Given the description of an element on the screen output the (x, y) to click on. 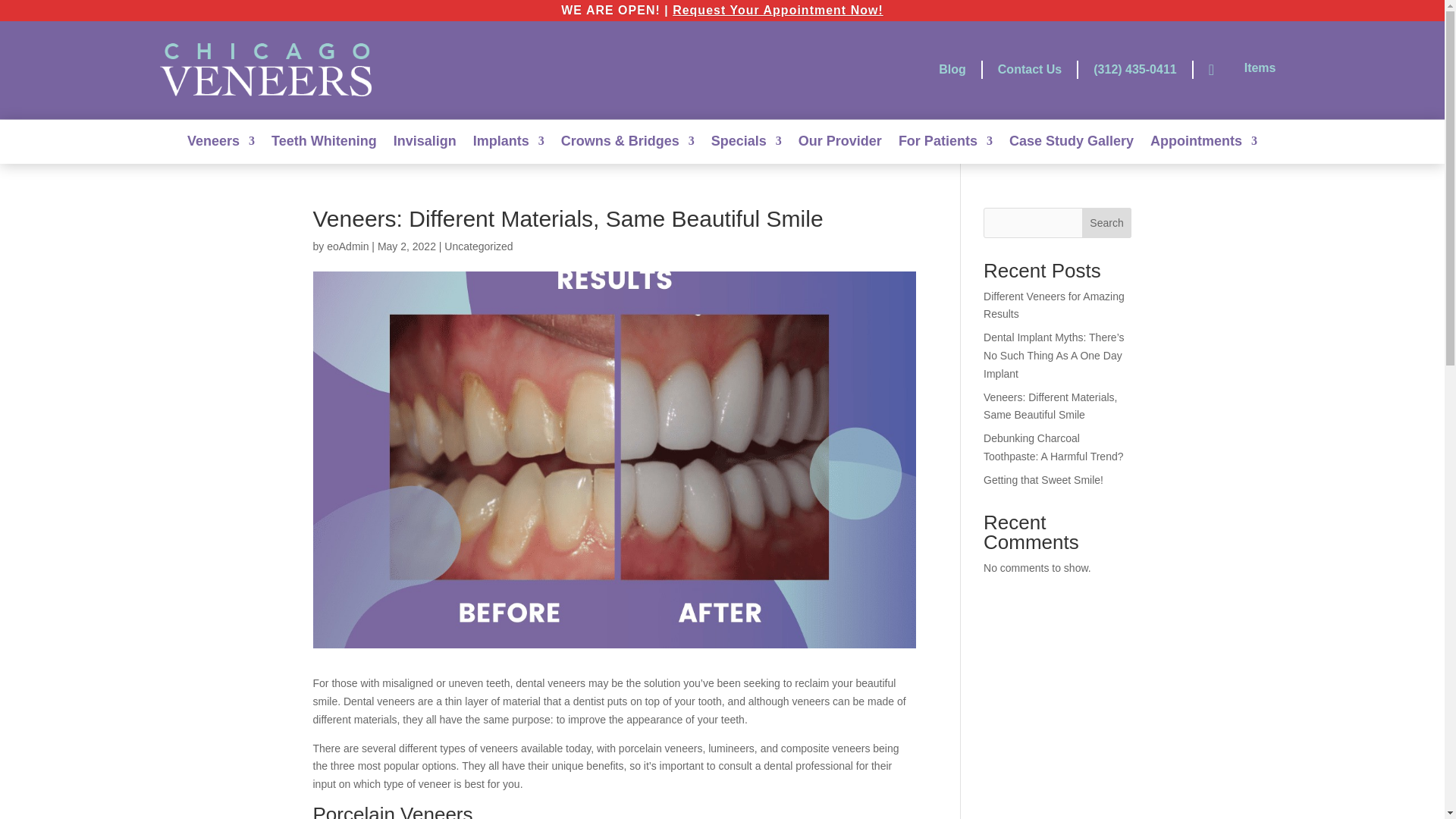
Invisalign (425, 148)
Our Provider (839, 148)
For Patients (945, 148)
Case Study Gallery (1071, 148)
ChicagoVeneers-logo-white (266, 69)
Veneers (220, 148)
Specials (746, 148)
Posts by eoAdmin (347, 246)
Implants (508, 148)
Appointments (1203, 148)
